Given the description of an element on the screen output the (x, y) to click on. 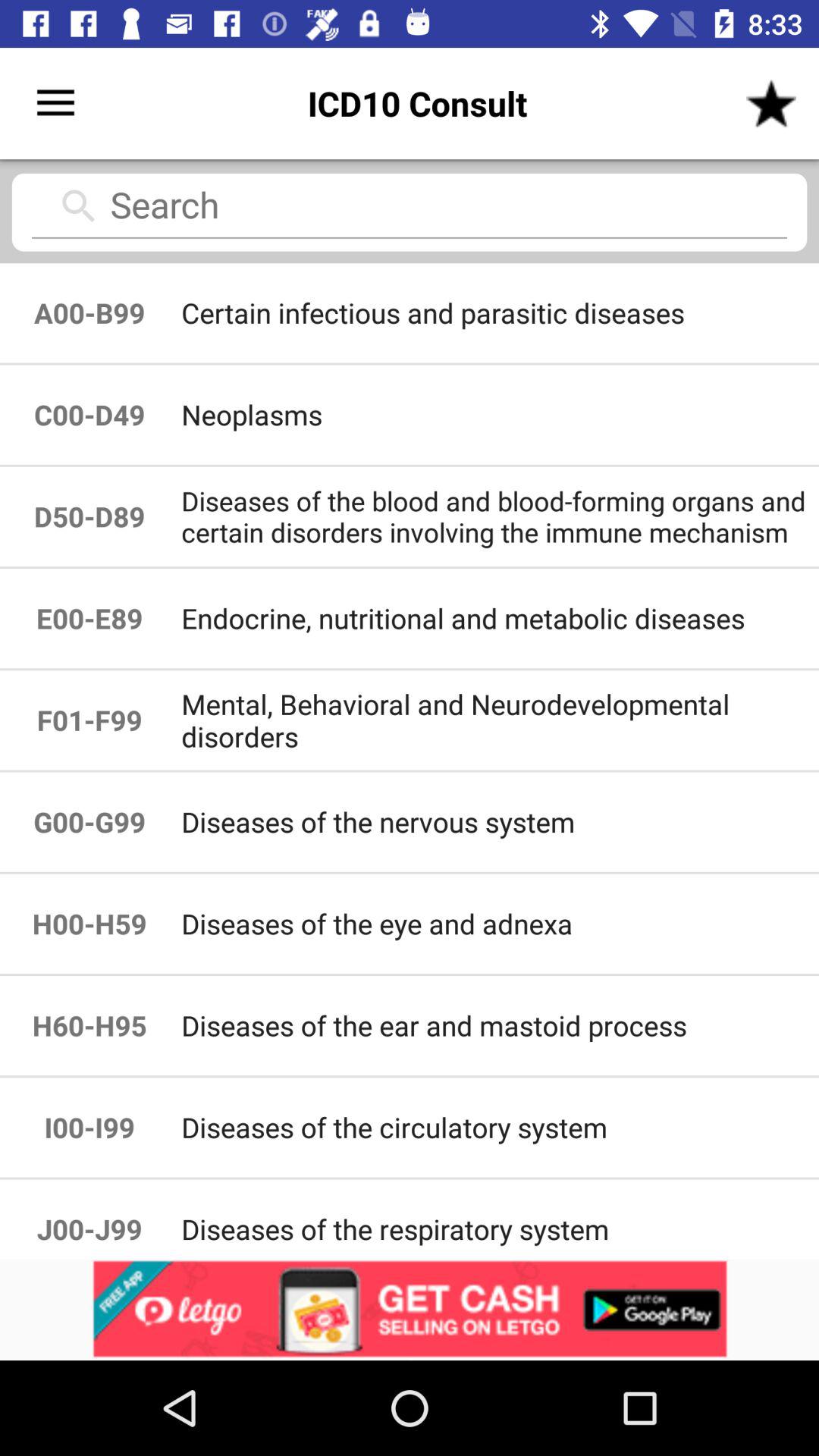
open advertisement link (409, 1309)
